Given the description of an element on the screen output the (x, y) to click on. 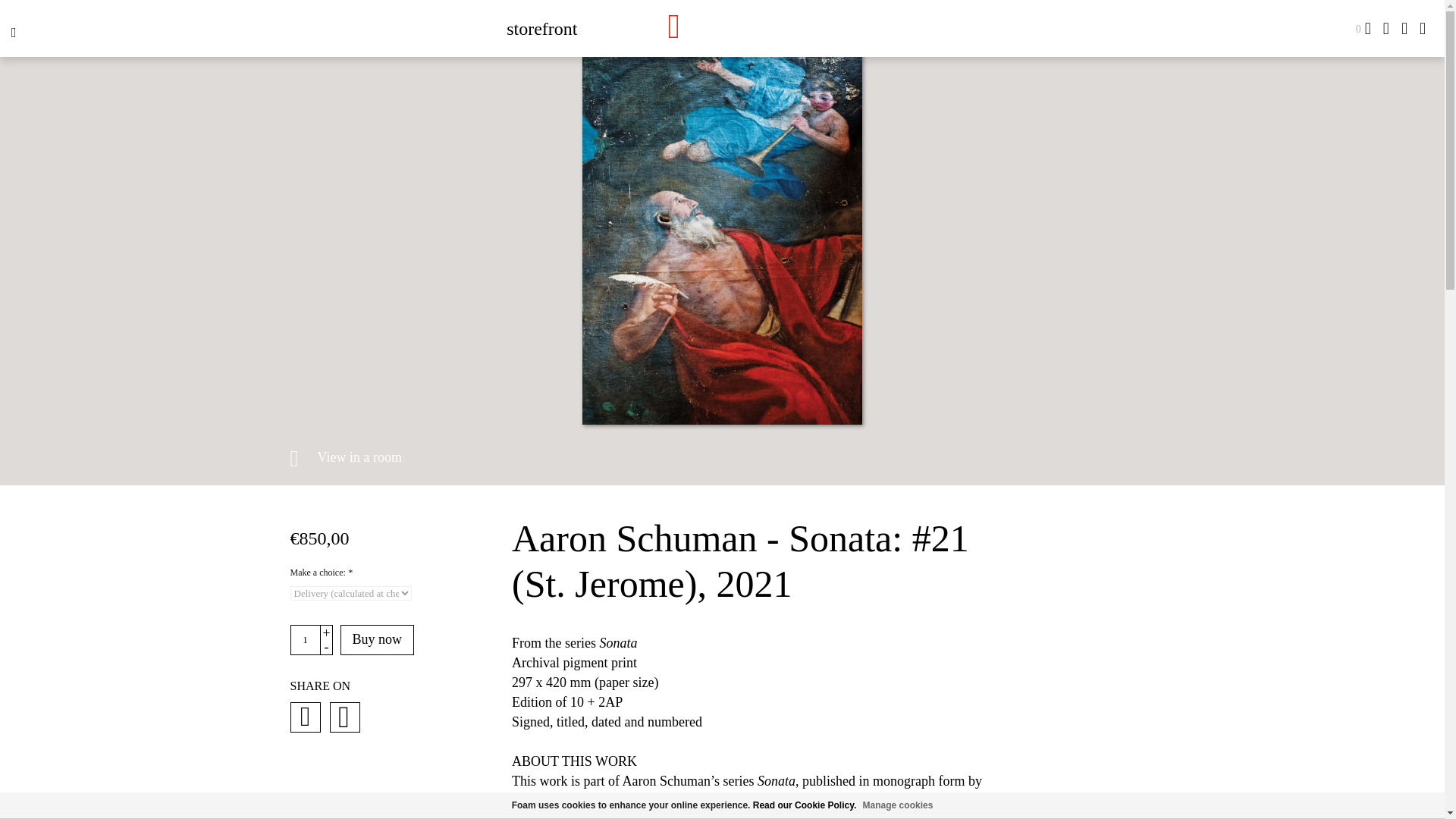
storefront (541, 27)
View in a room (345, 458)
1 (304, 639)
Buy now (376, 639)
Buy now (376, 639)
